Given the description of an element on the screen output the (x, y) to click on. 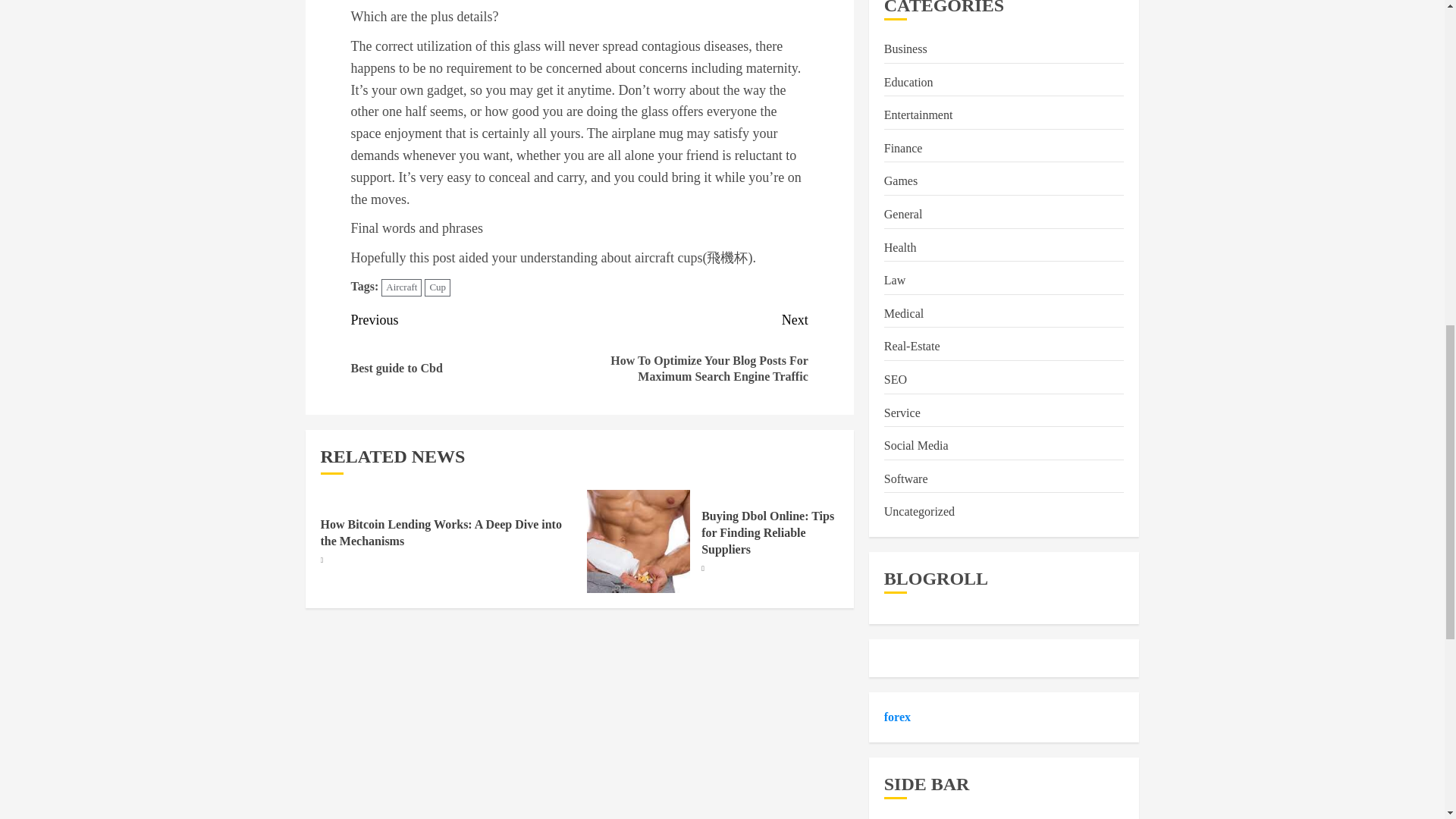
Aircraft (401, 287)
Cup (437, 287)
Games (900, 181)
Business (905, 49)
Entertainment (918, 115)
How Bitcoin Lending Works: A Deep Dive into the Mechanisms (440, 532)
Buying Dbol Online: Tips for Finding Reliable Suppliers (464, 354)
Education (767, 533)
